Given the description of an element on the screen output the (x, y) to click on. 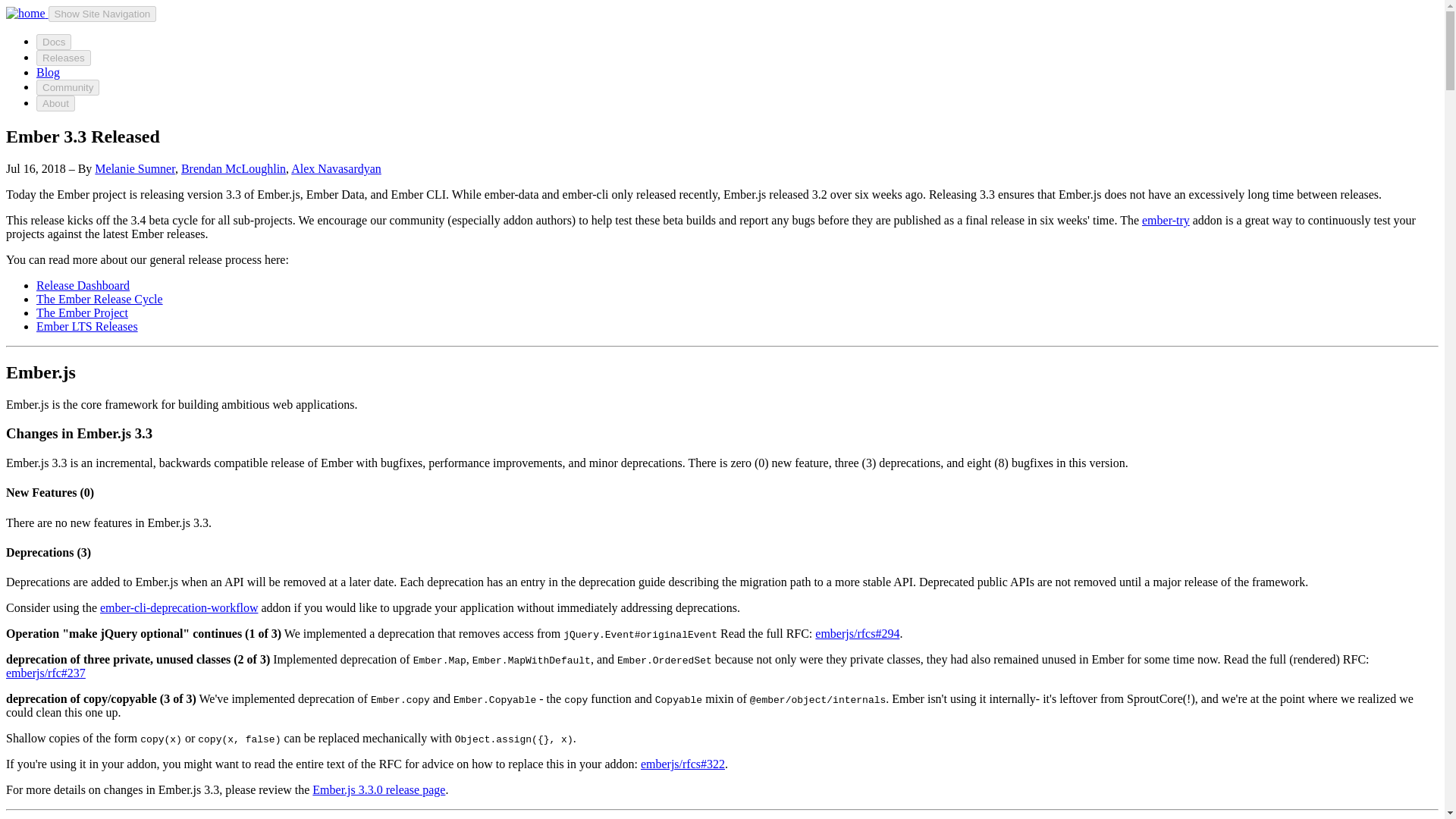
Brendan McLoughlin (232, 168)
Melanie Sumner (134, 168)
Show Site Navigation (102, 13)
Alex Navasardyan (336, 168)
Blog (47, 72)
Ember.js 3.3.0 release page (379, 789)
The Ember Release Cycle (99, 298)
Release Dashboard (82, 285)
Docs (53, 41)
Releases (63, 57)
